Given the description of an element on the screen output the (x, y) to click on. 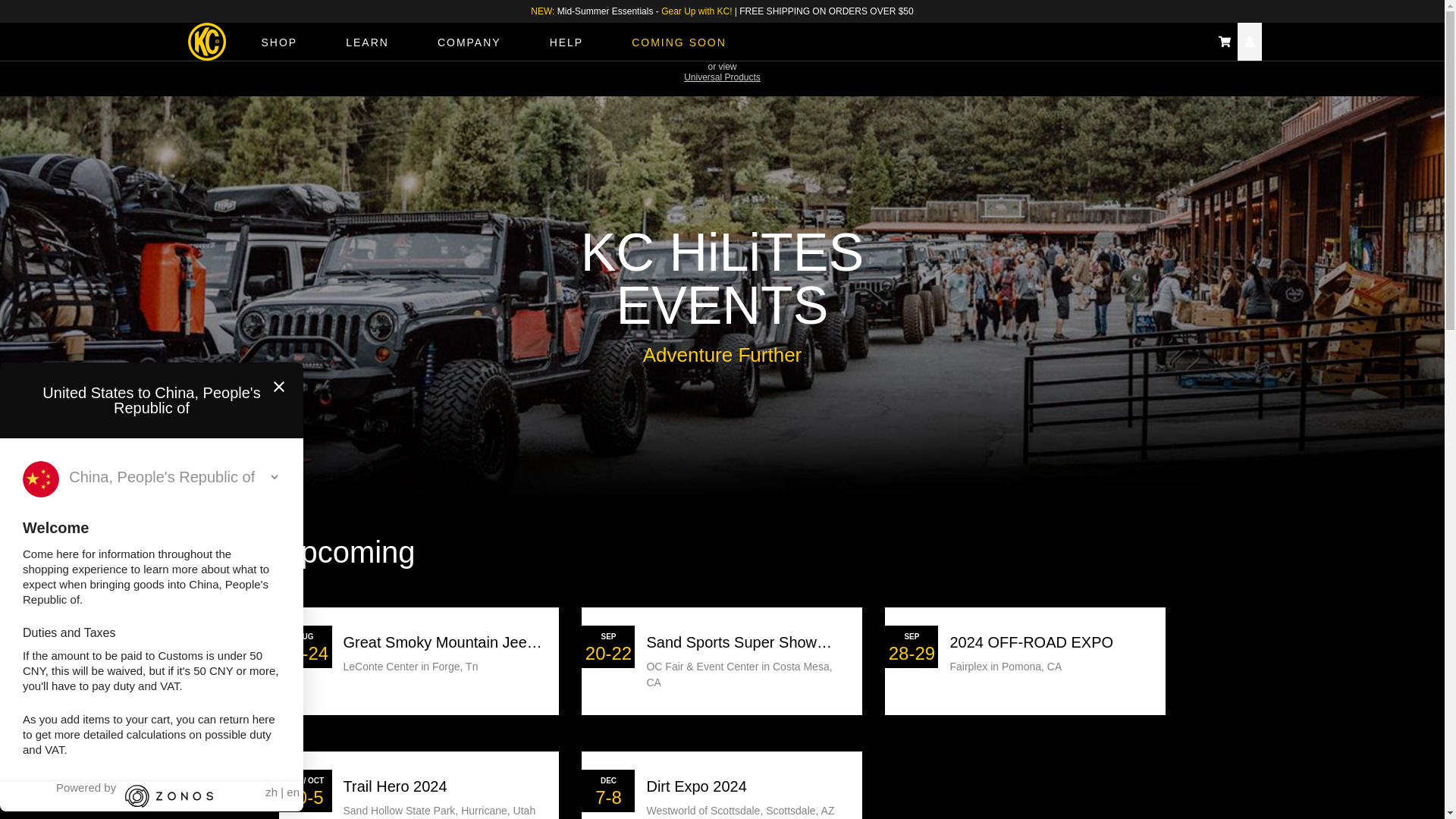
KC HiLites (206, 41)
SHOP (278, 41)
Gear Up with KC! (696, 10)
